Given the description of an element on the screen output the (x, y) to click on. 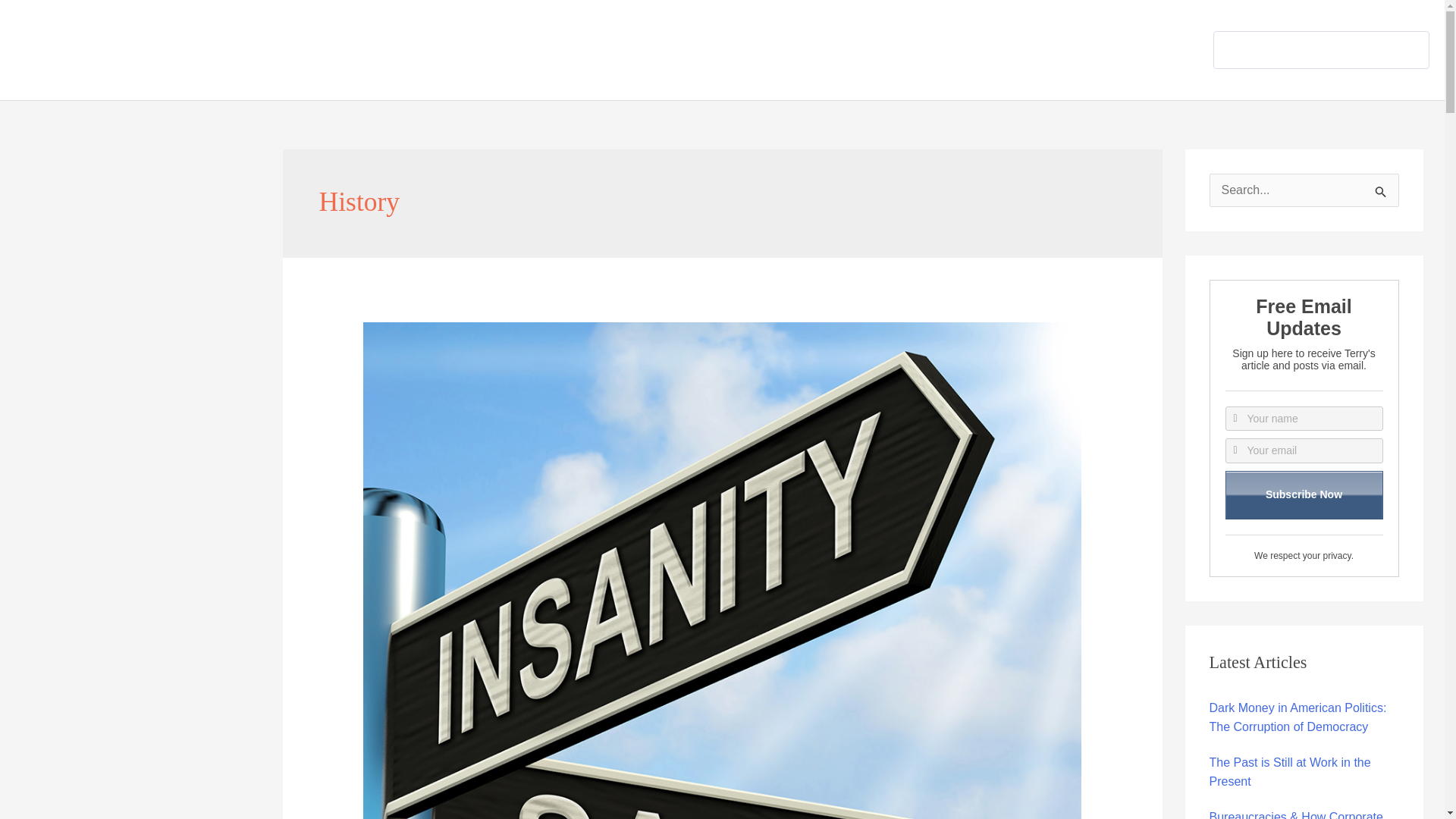
Subscribe Now (1304, 494)
CONTACT (1144, 49)
ARTICLES (973, 49)
SUBSCRIBE FOR TERRY'S POSTS (1312, 49)
